Given the description of an element on the screen output the (x, y) to click on. 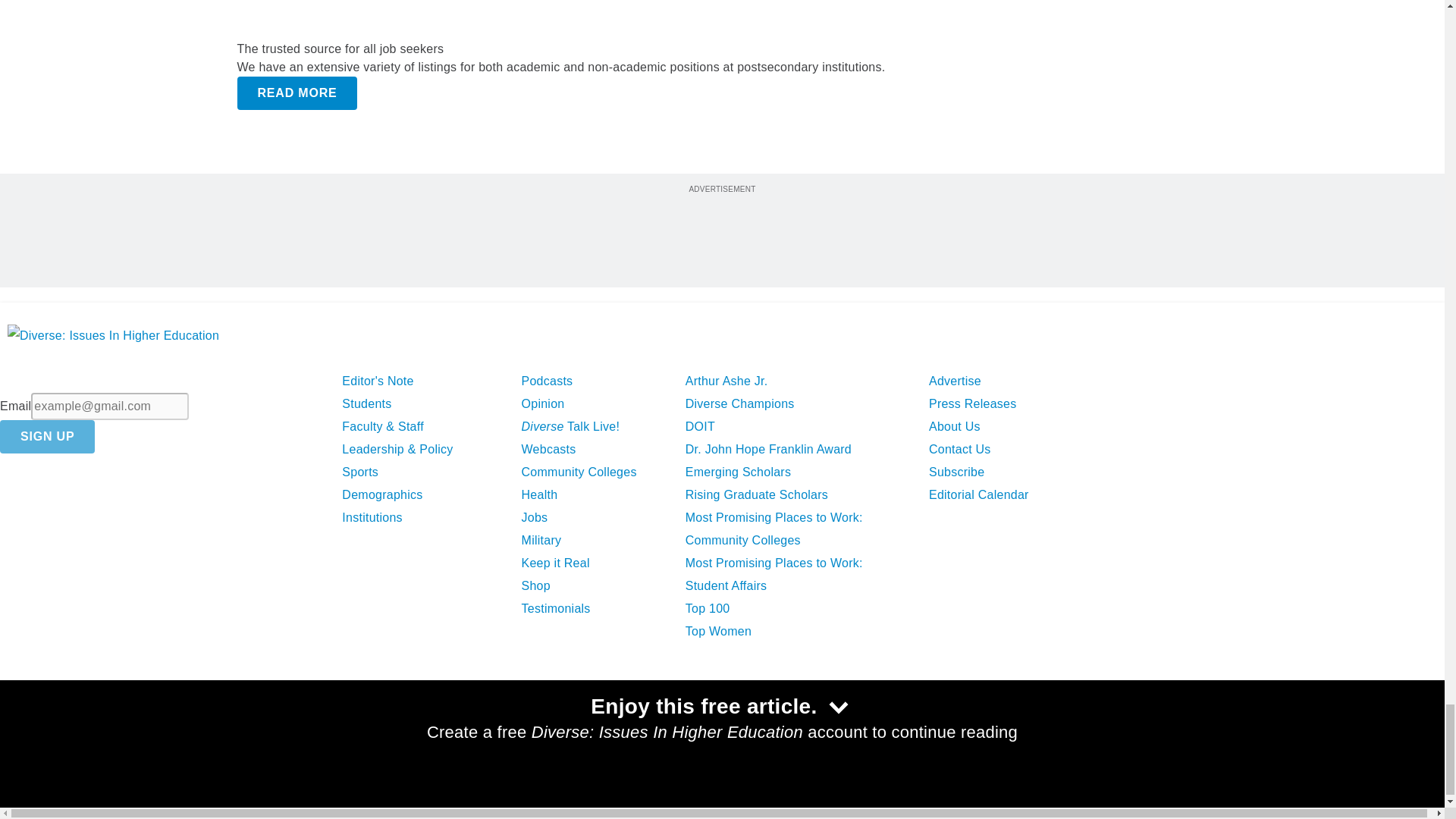
Instagram icon (179, 733)
Twitter X icon (60, 733)
LinkedIn icon (102, 733)
YouTube icon (141, 733)
Facebook icon (20, 733)
